Given the description of an element on the screen output the (x, y) to click on. 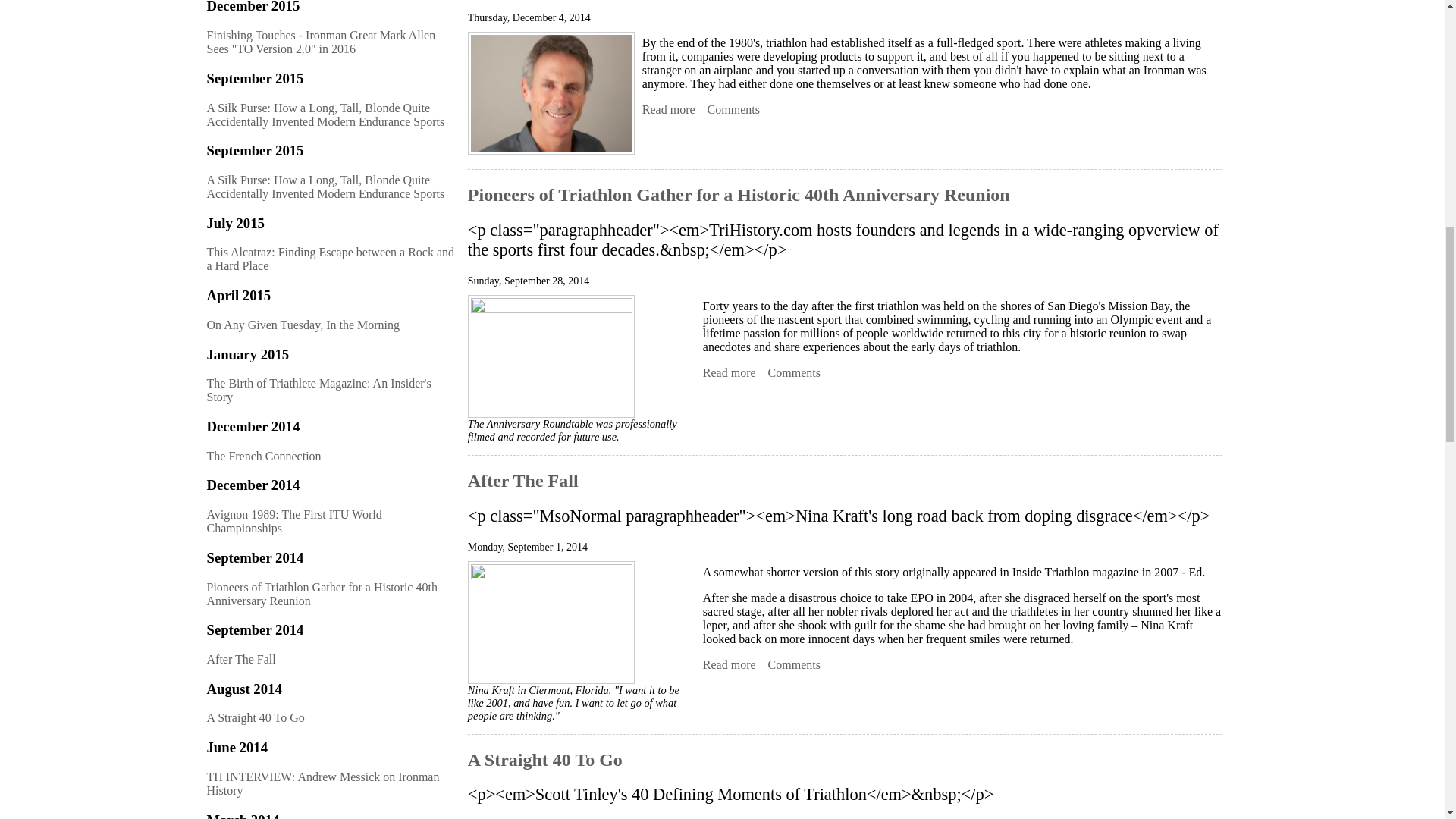
Avignon 1989: The First ITU World Championships (668, 110)
After The Fall  (729, 664)
Nina Craft in 2014  (550, 622)
TriHistory's 40th Anniversary Roundtable  (550, 355)
